Given the description of an element on the screen output the (x, y) to click on. 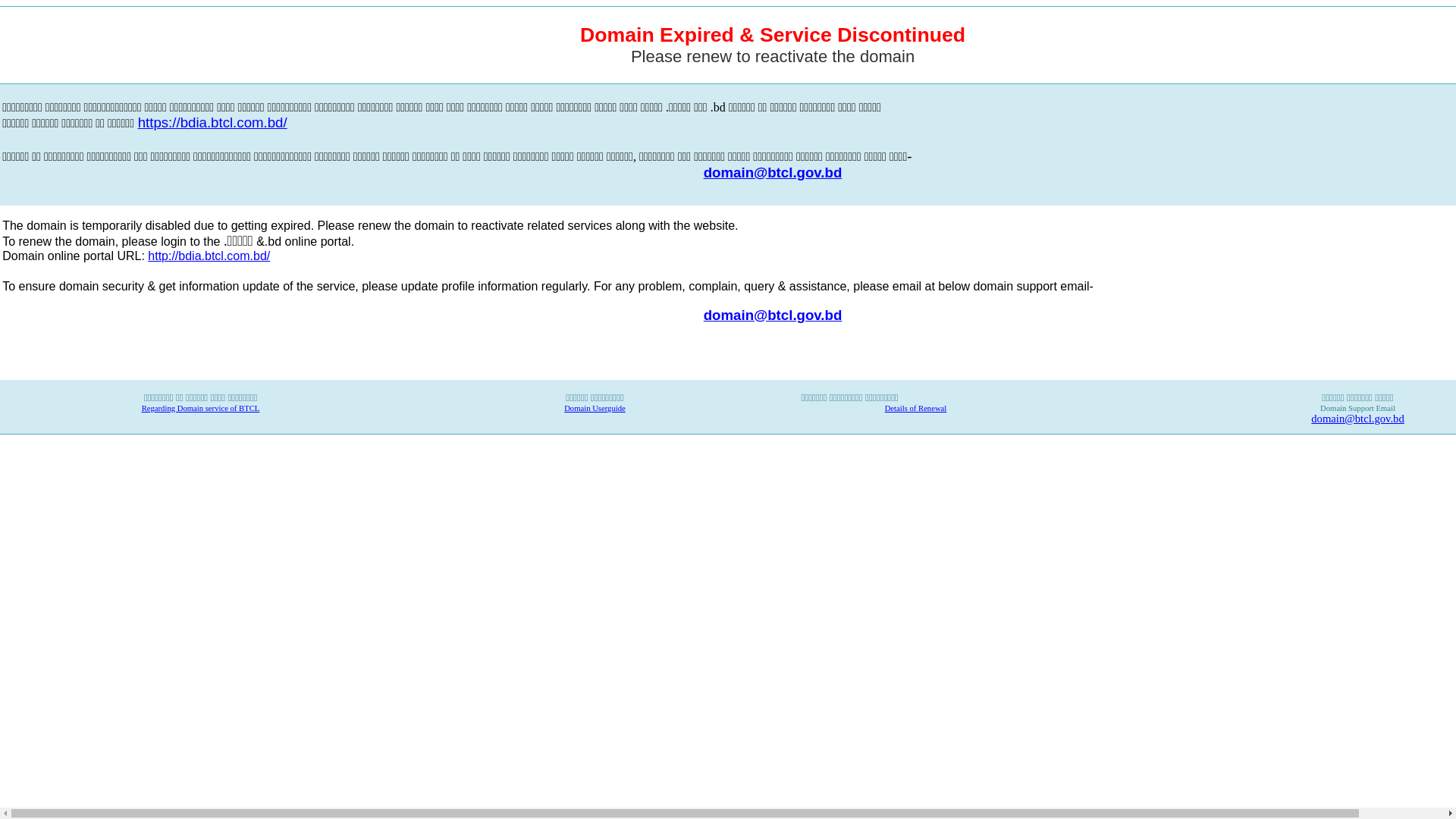
http://bdia.btcl.com.bd/ Element type: text (208, 256)
Details of Renewal Element type: text (915, 408)
https://bdia.btcl.com.bd/ Element type: text (212, 123)
domain@btcl.gov.bd Element type: text (1357, 418)
Regarding Domain service of BTCL Element type: text (200, 408)
domain@btcl.gov.bd Element type: text (772, 314)
domain@btcl.gov.bd Element type: text (772, 172)
Domain Userguide Element type: text (594, 408)
